Given the description of an element on the screen output the (x, y) to click on. 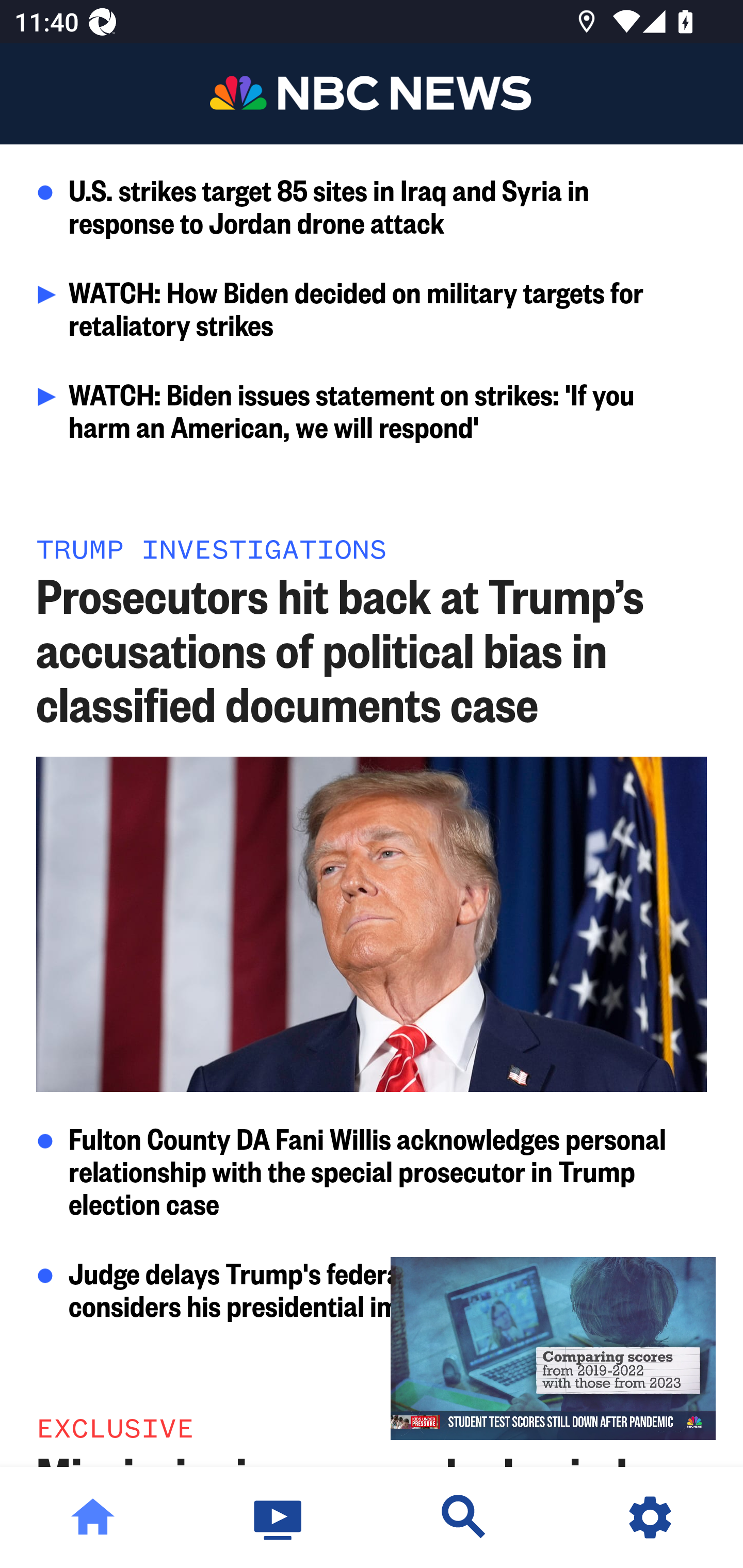
Watch (278, 1517)
Discover (464, 1517)
Settings (650, 1517)
